Given the description of an element on the screen output the (x, y) to click on. 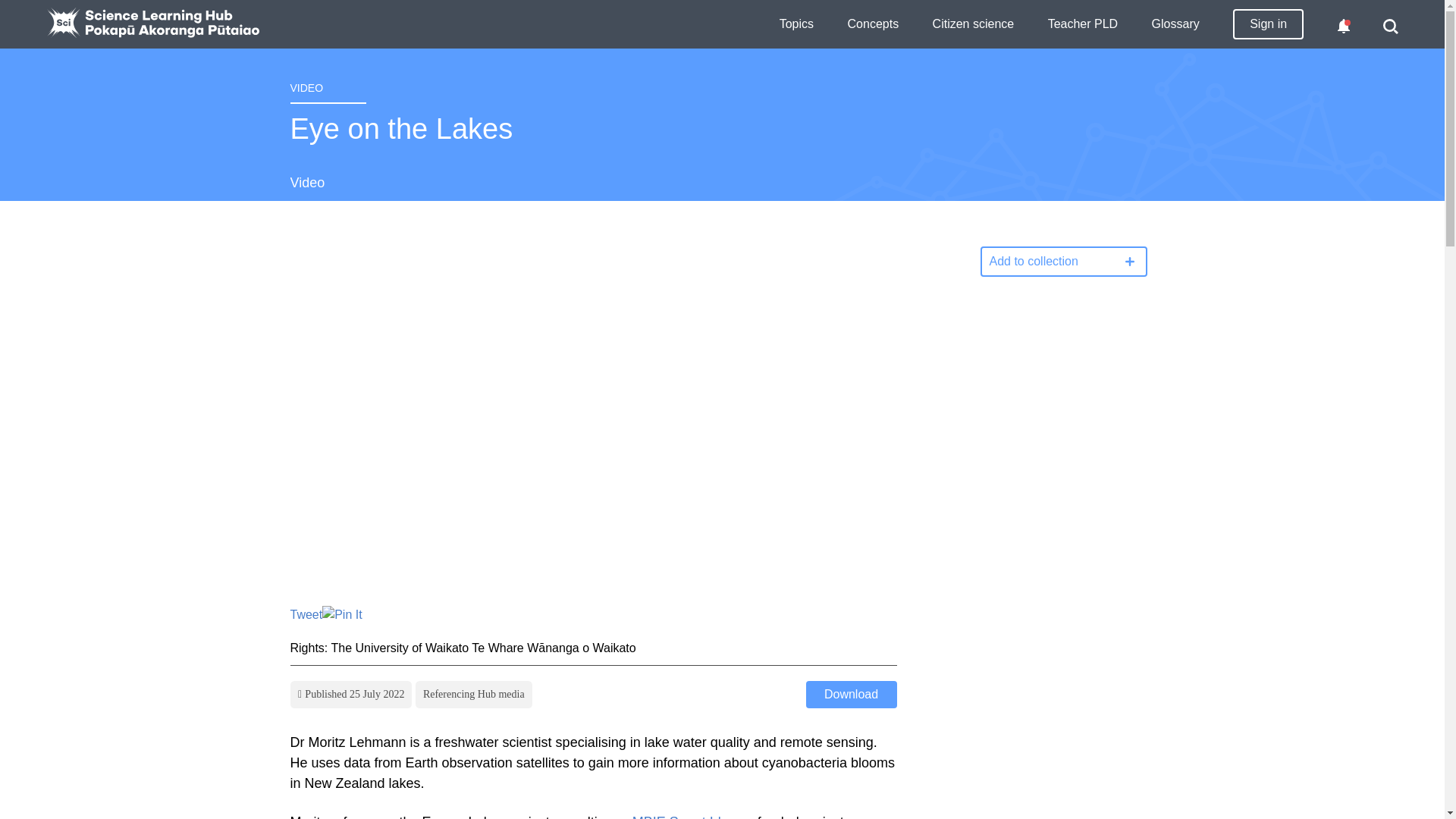
Tweet (305, 615)
Concepts (873, 24)
Referencing Hub media (473, 693)
Glossary (1175, 24)
Teacher PLD (1083, 24)
Sign in (1268, 24)
Citizen science (973, 24)
Pin It (341, 615)
Download (850, 694)
